Given the description of an element on the screen output the (x, y) to click on. 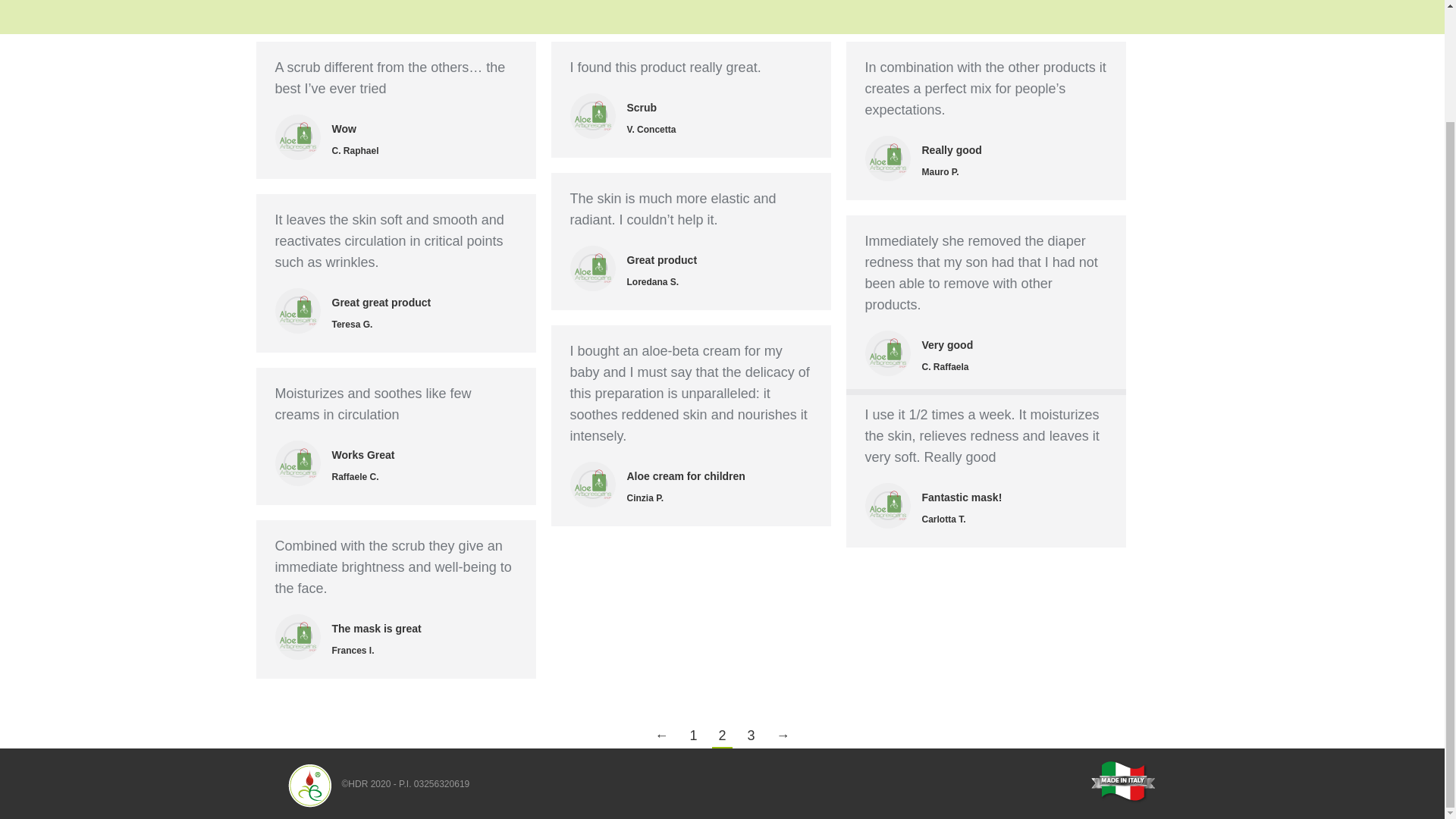
aloeshop-logo-quadro (887, 352)
aloeshop-logo-quadro (297, 310)
aloeshop-logo-quadro (887, 157)
aloeshop-logo-quadro (297, 136)
aloeshop-logo-quadro (592, 268)
aloeshop-logo-quadro (592, 483)
aloeshop-logo-quadro (592, 115)
aloeshop-logo-quadro (297, 463)
aloeshop-logo-quadro (887, 505)
aloeshop-logo-quadro (297, 637)
